Given the description of an element on the screen output the (x, y) to click on. 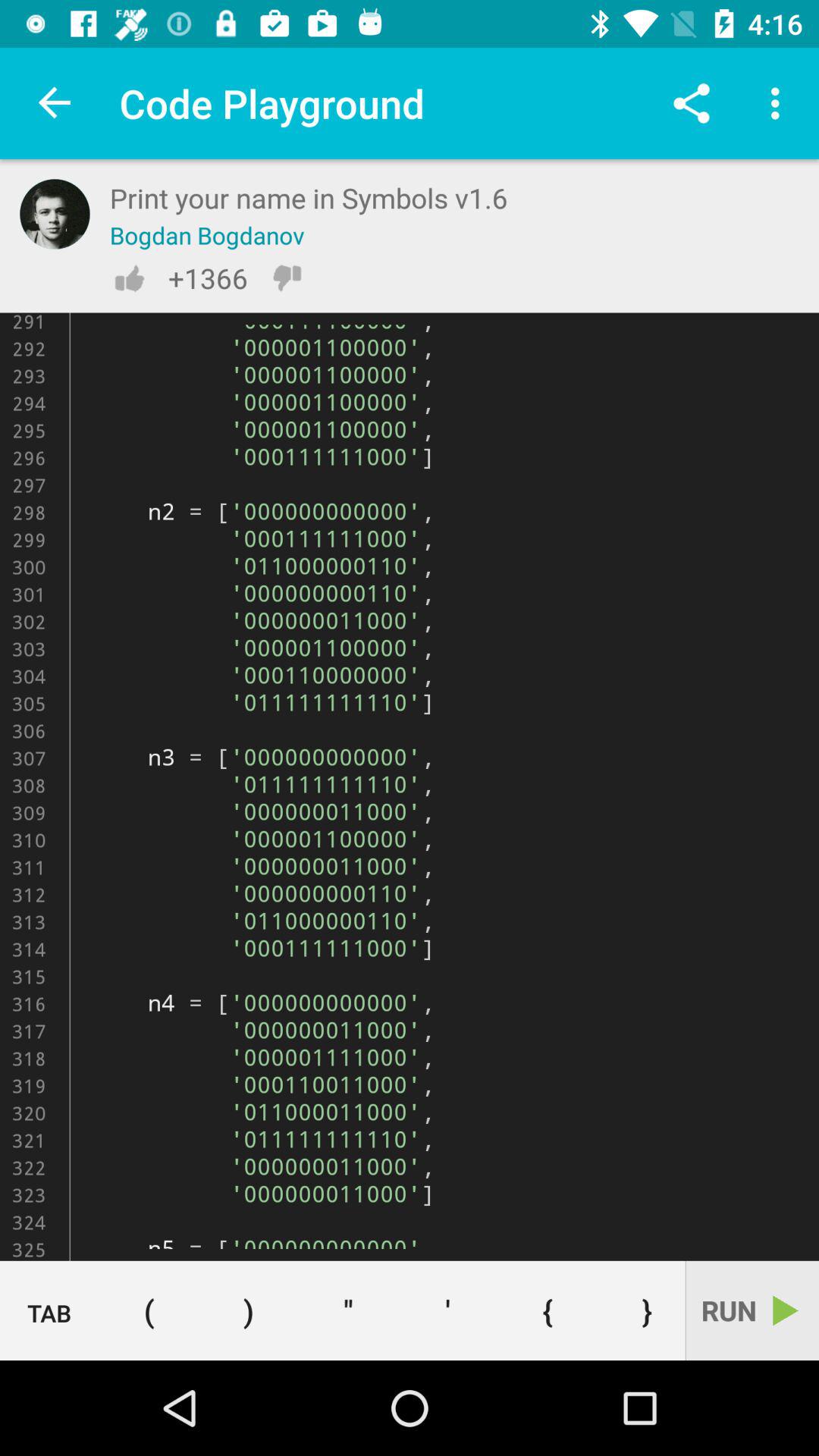
like (129, 277)
